Given the description of an element on the screen output the (x, y) to click on. 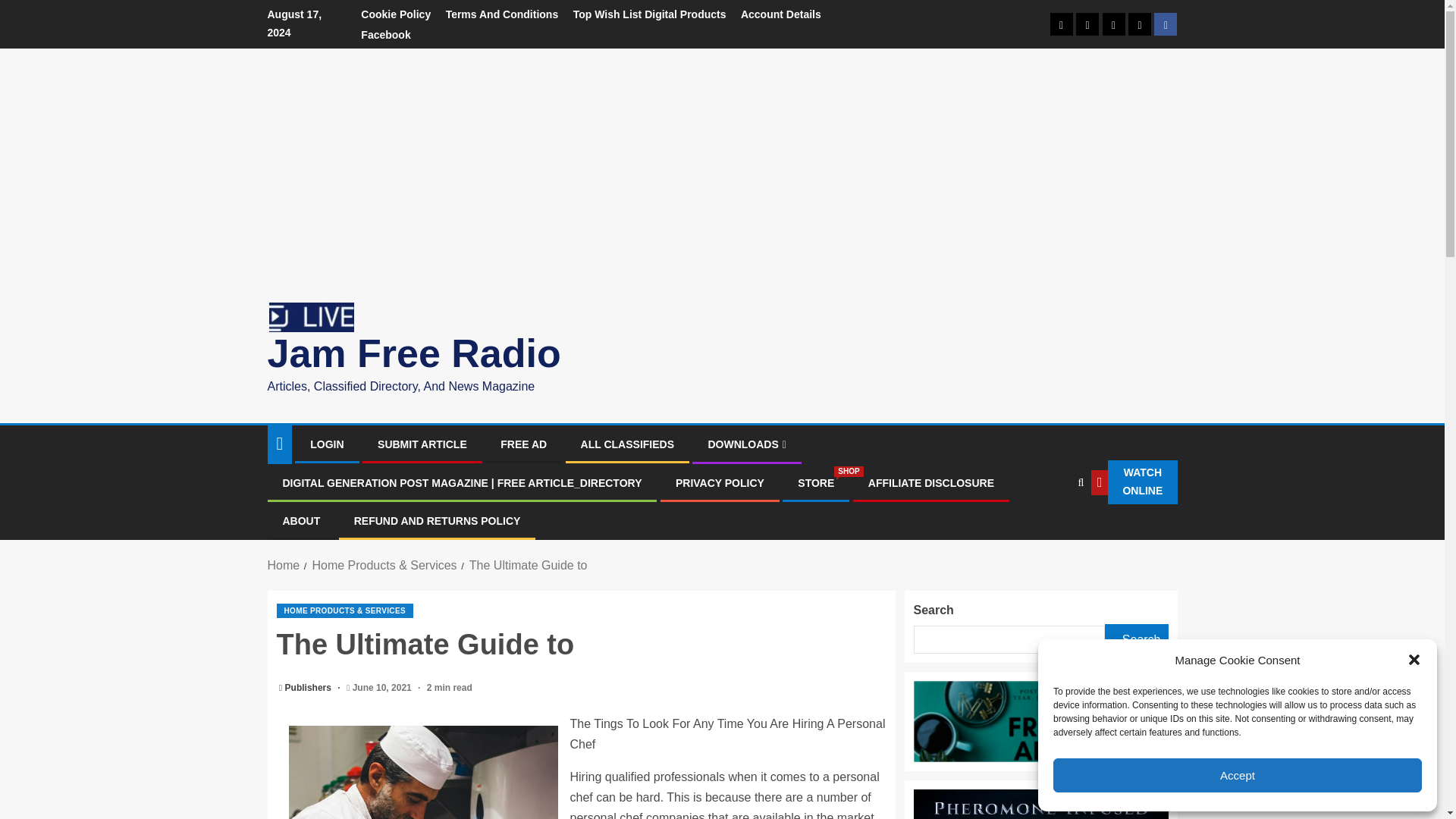
Facebook (385, 34)
Accept (1237, 775)
Cookie Policy (395, 14)
PRIVACY POLICY (719, 482)
Account Details (781, 14)
FREE AD (523, 444)
ABOUT (301, 521)
REFUND AND RETURNS POLICY (437, 521)
LOGIN (326, 444)
